Given the description of an element on the screen output the (x, y) to click on. 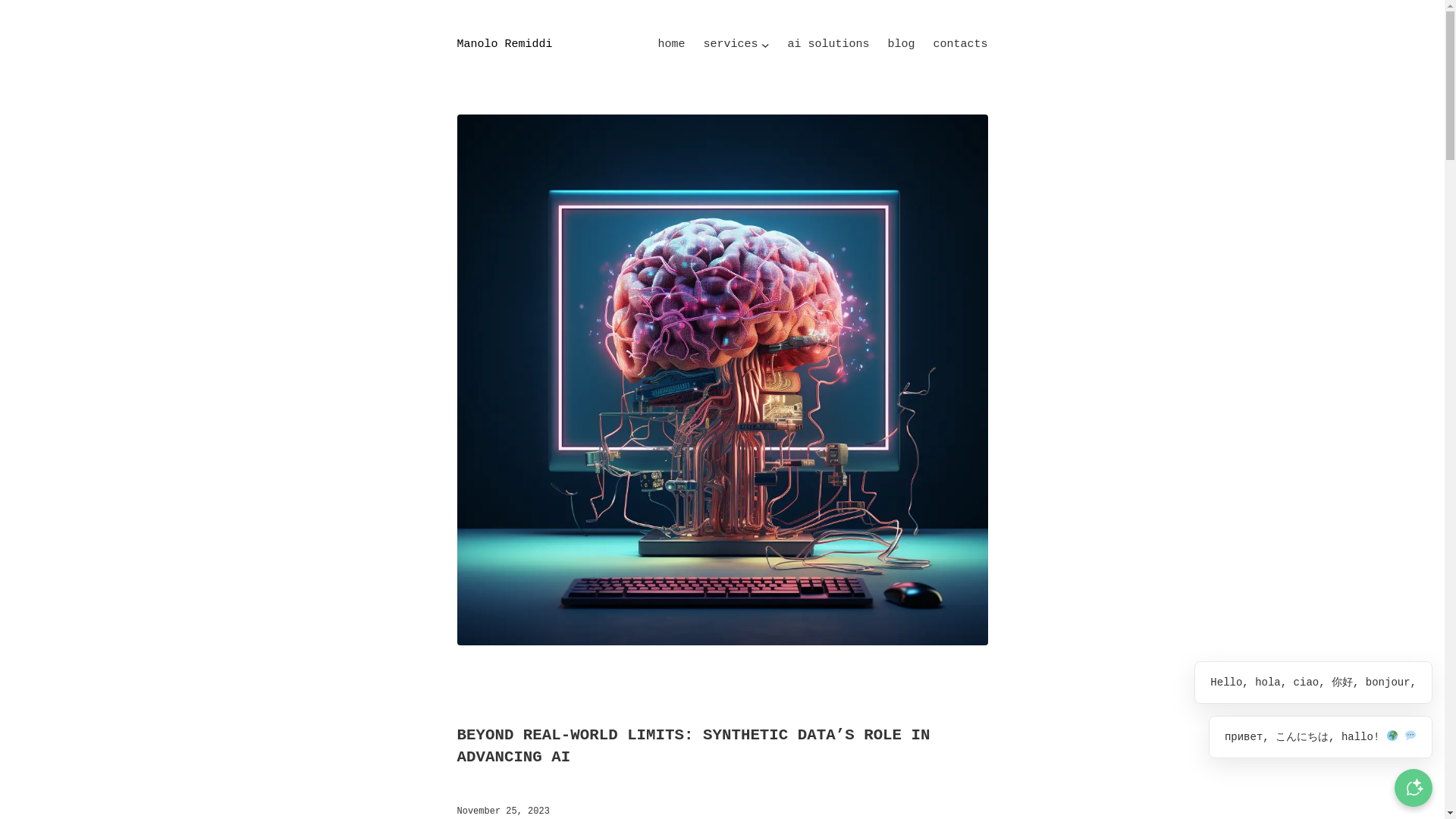
Manolo Remiddi (504, 43)
contacts (960, 45)
services (730, 45)
home (671, 45)
blog (900, 45)
ai solutions (828, 45)
